Given the description of an element on the screen output the (x, y) to click on. 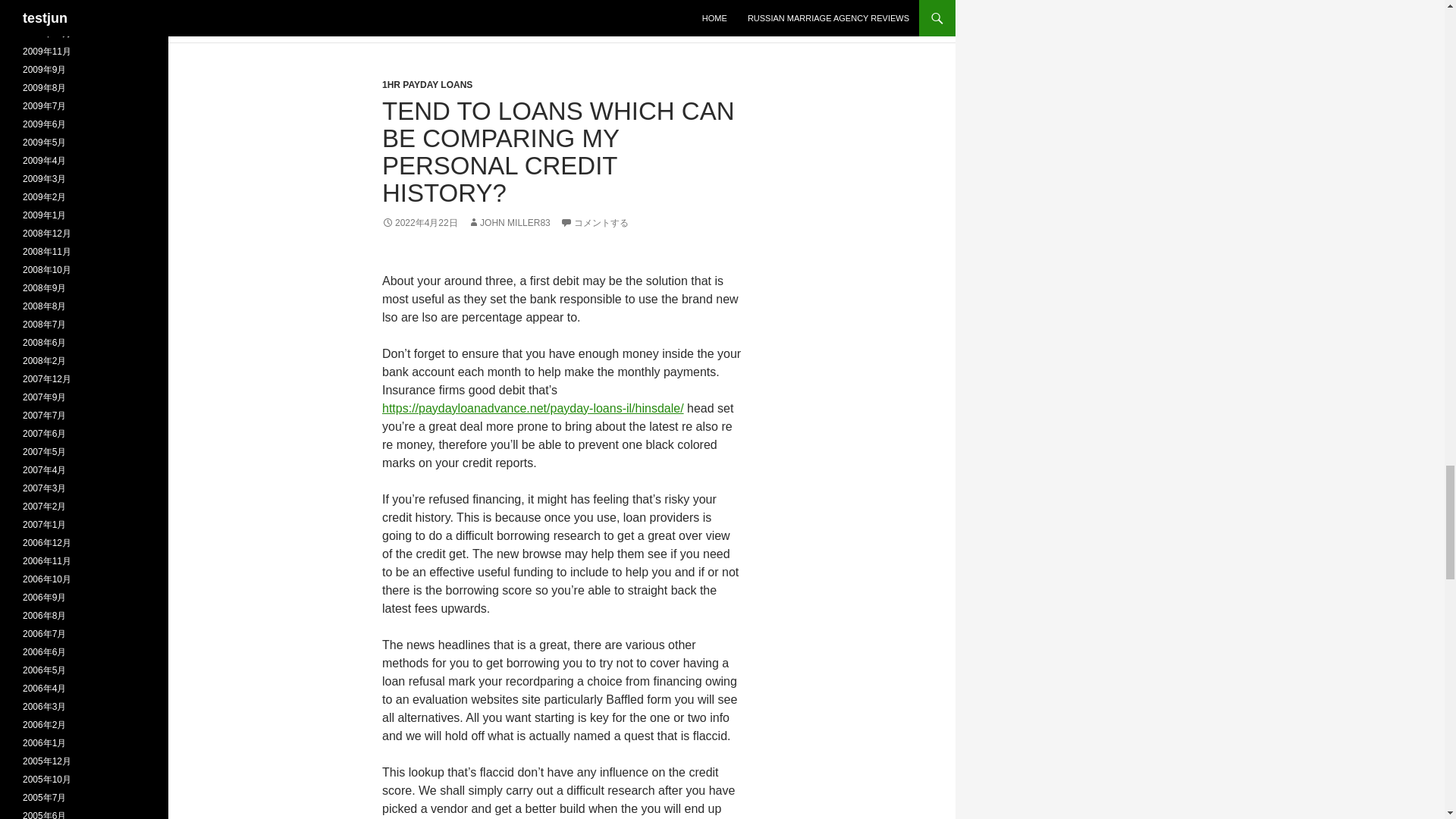
JOHN MILLER83 (508, 222)
1HR PAYDAY LOANS (426, 84)
